Given the description of an element on the screen output the (x, y) to click on. 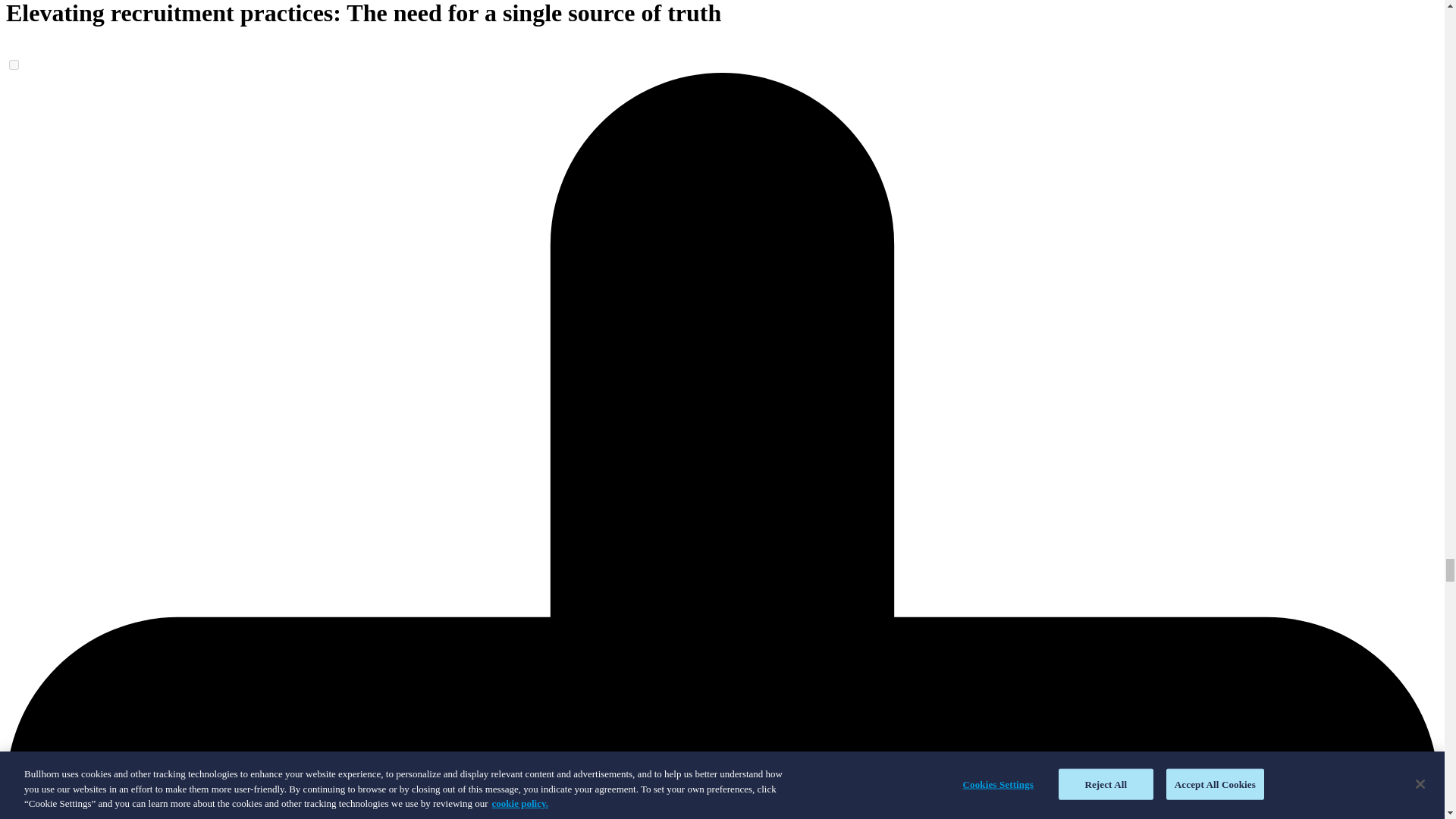
on (13, 63)
